Given the description of an element on the screen output the (x, y) to click on. 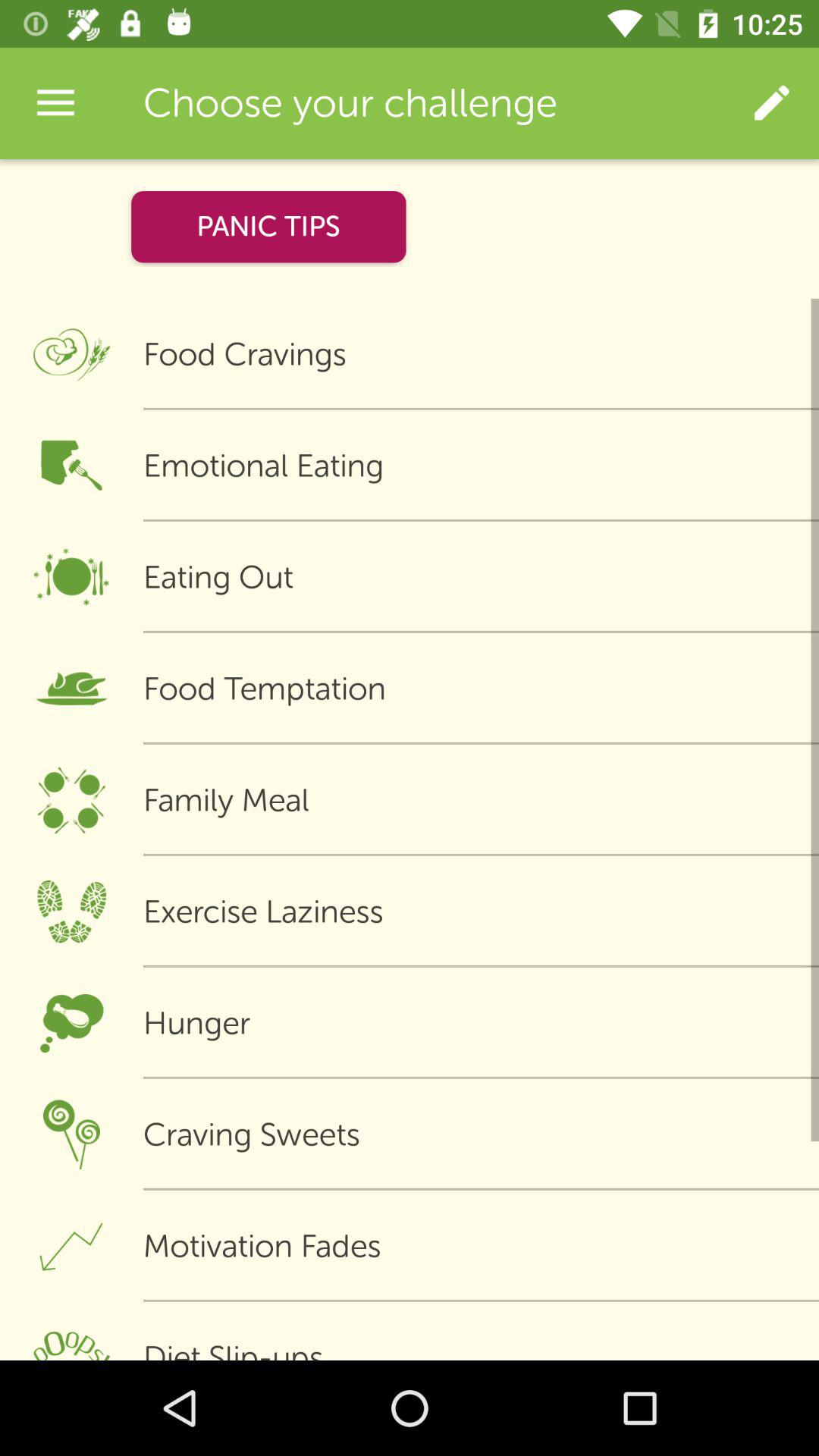
click icon next to the choose your challenge icon (771, 103)
